Given the description of an element on the screen output the (x, y) to click on. 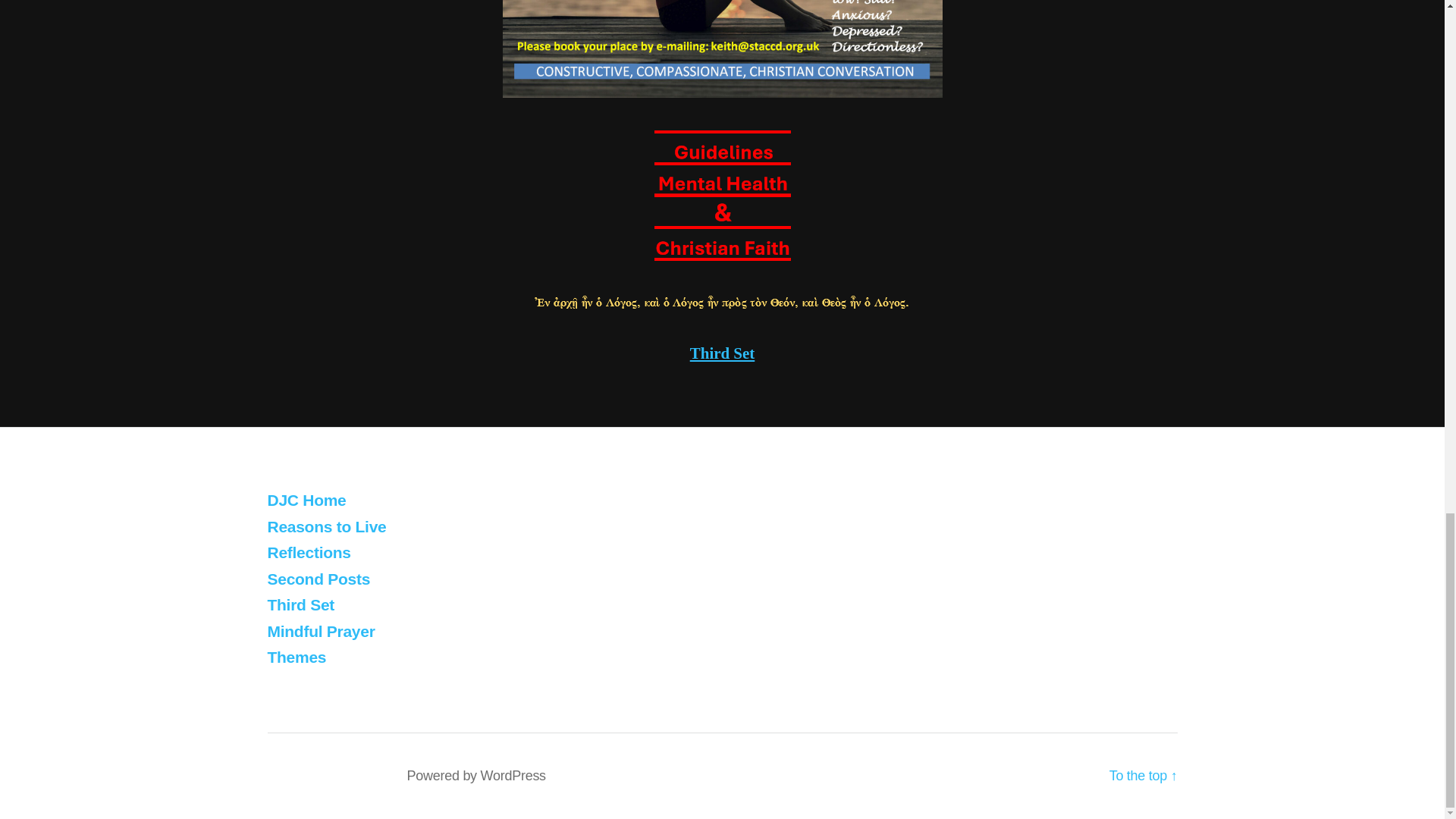
Powered by WordPress (475, 775)
Reflections (308, 552)
Themes (296, 656)
Faith and Traumatic Brain Injury April 20- March 21 (308, 552)
Third Set (300, 604)
DJChannon (351, 775)
DJC Home (306, 499)
Mindful Prayer (320, 630)
Second Posts (317, 579)
Reasons to Live (325, 526)
Third Set (722, 353)
